Given the description of an element on the screen output the (x, y) to click on. 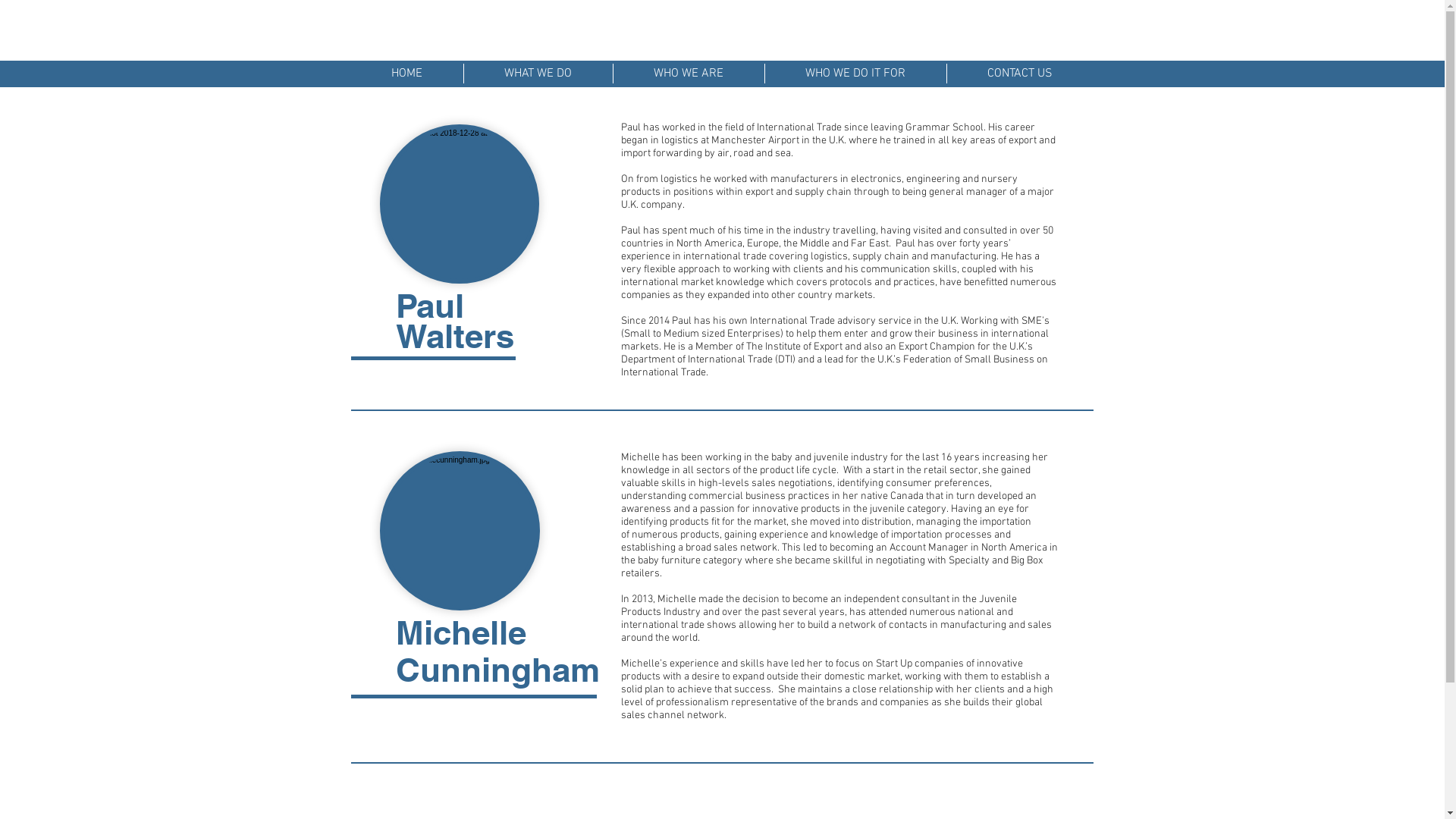
WHO WE ARE Element type: text (687, 73)
HOME Element type: text (406, 73)
WHO WE DO IT FOR Element type: text (854, 73)
CONTACT US Element type: text (1019, 73)
WHAT WE DO Element type: text (538, 73)
